Given the description of an element on the screen output the (x, y) to click on. 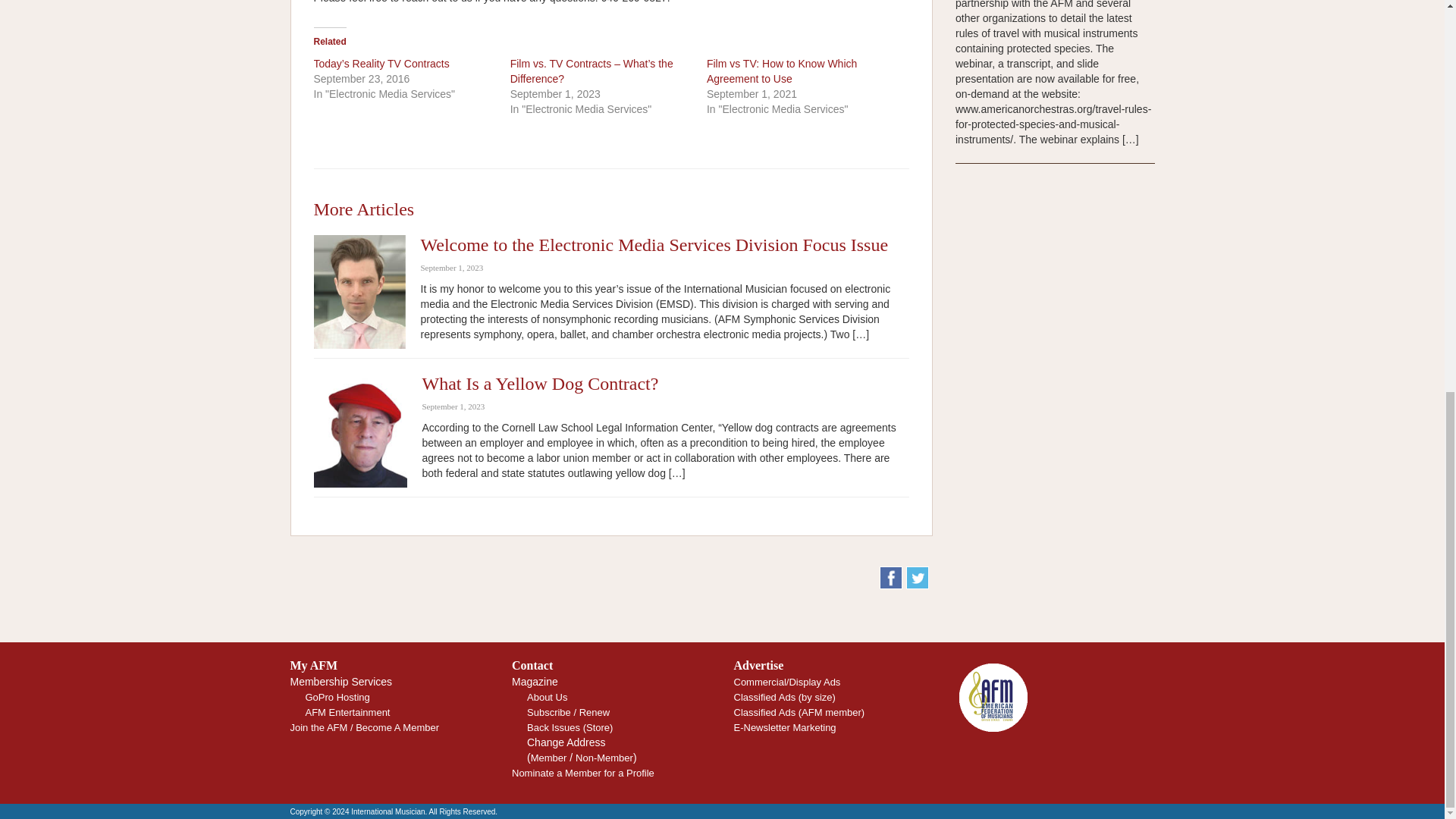
What Is a Yellow Dog Contract? (540, 383)
Film vs TV: How to Know Which Agreement to Use (781, 71)
